Given the description of an element on the screen output the (x, y) to click on. 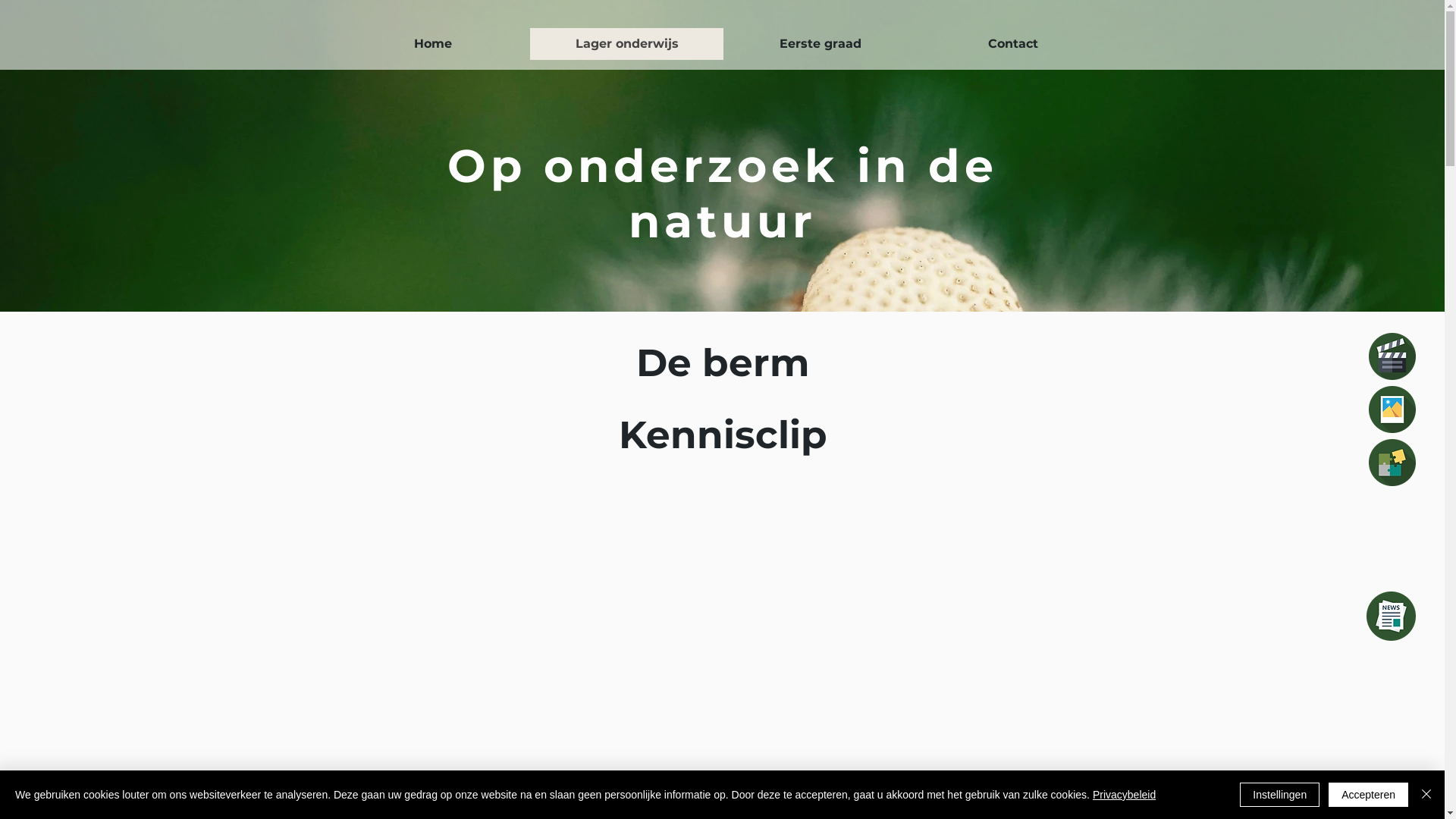
Accepteren Element type: text (1368, 794)
Eerste graad Element type: text (819, 43)
Home Element type: text (433, 43)
Lager onderwijs Element type: text (625, 43)
Privacybeleid Element type: text (1123, 794)
Instellingen Element type: text (1279, 794)
Contact Element type: text (1012, 43)
